Given the description of an element on the screen output the (x, y) to click on. 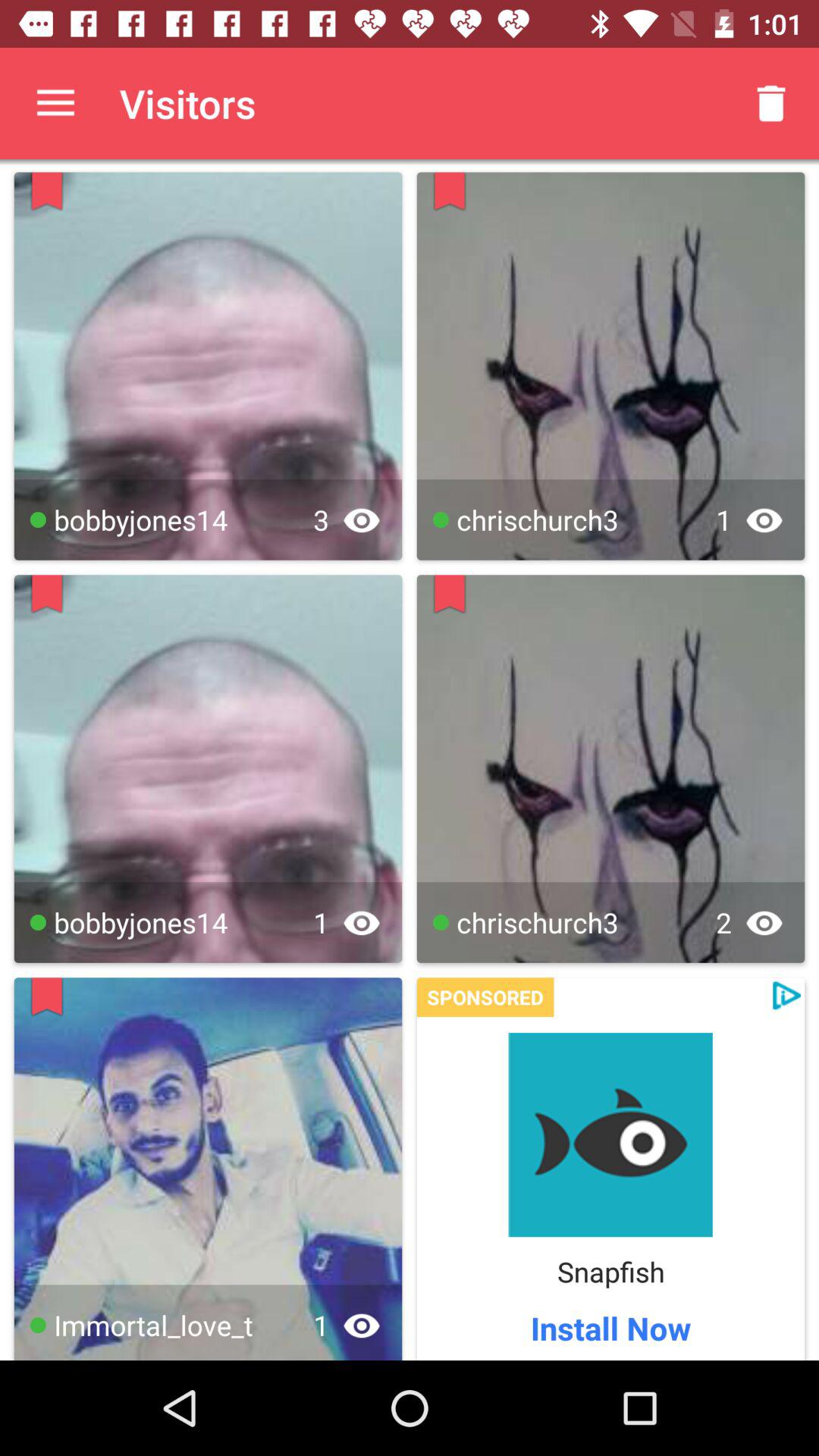
launch the app to the right of the visitors app (771, 103)
